Given the description of an element on the screen output the (x, y) to click on. 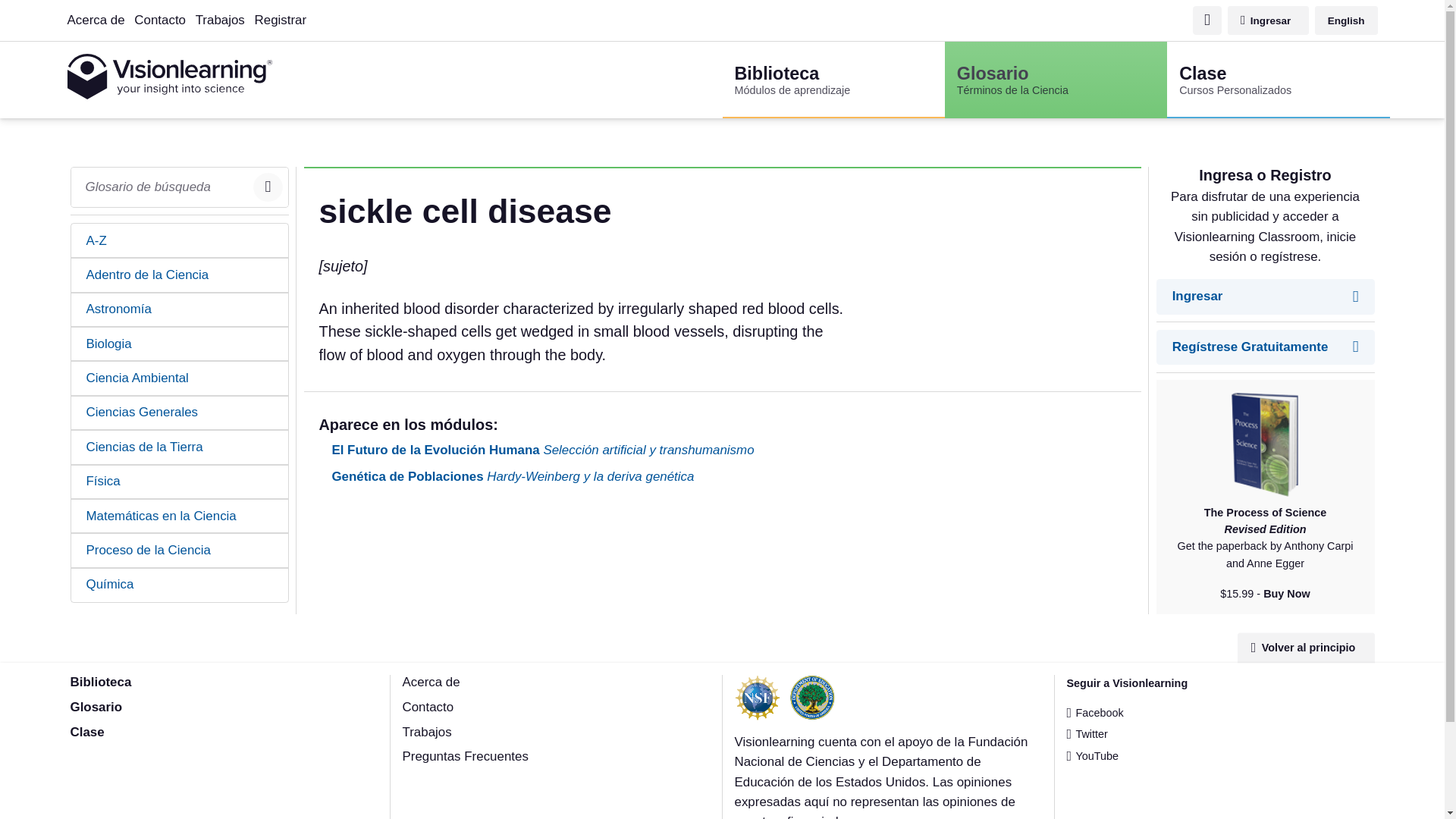
Biblioteca (100, 681)
Ciencia Ambiental (179, 377)
Volver al principio (1305, 648)
Biologia (1278, 79)
Jump to main content (179, 343)
Registrar (738, 9)
Contacto (280, 20)
Ingresar (159, 20)
Contacto (1267, 20)
Proceso de la Ciencia (426, 707)
Trabajos (179, 550)
English (219, 20)
Clase (1345, 20)
Acerca de (86, 731)
